Given the description of an element on the screen output the (x, y) to click on. 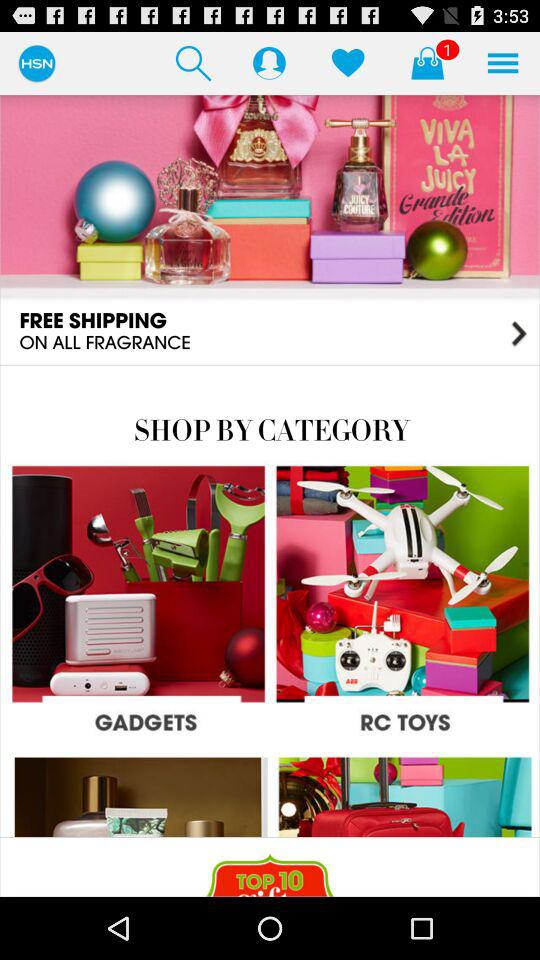
view fragrance options (269, 229)
